Given the description of an element on the screen output the (x, y) to click on. 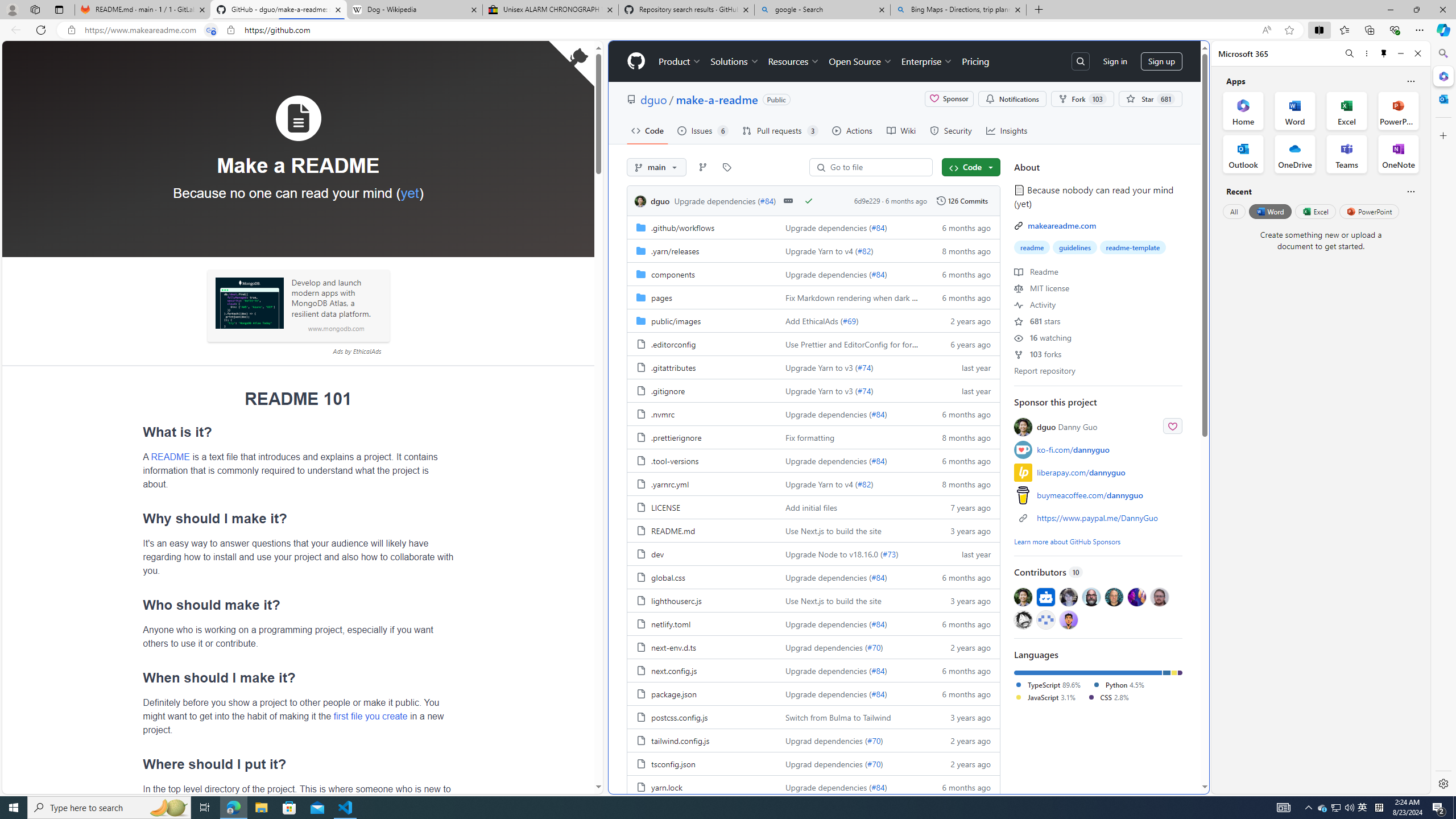
Sign up (1161, 61)
ko_fi (1022, 449)
buymeacoffee.com/dannyguo (1089, 495)
pages, (Directory) (661, 297)
@sy-records (1022, 619)
dev, (File) (701, 553)
.gitignore, (File) (701, 390)
Activity (1034, 303)
6 months ago (961, 786)
liberapay.com/dannyguo (1080, 472)
3 years ago (961, 716)
netlify.toml, (File) (670, 623)
AutomationID: folder-row-20 (813, 693)
PowerPoint (1369, 210)
